Given the description of an element on the screen output the (x, y) to click on. 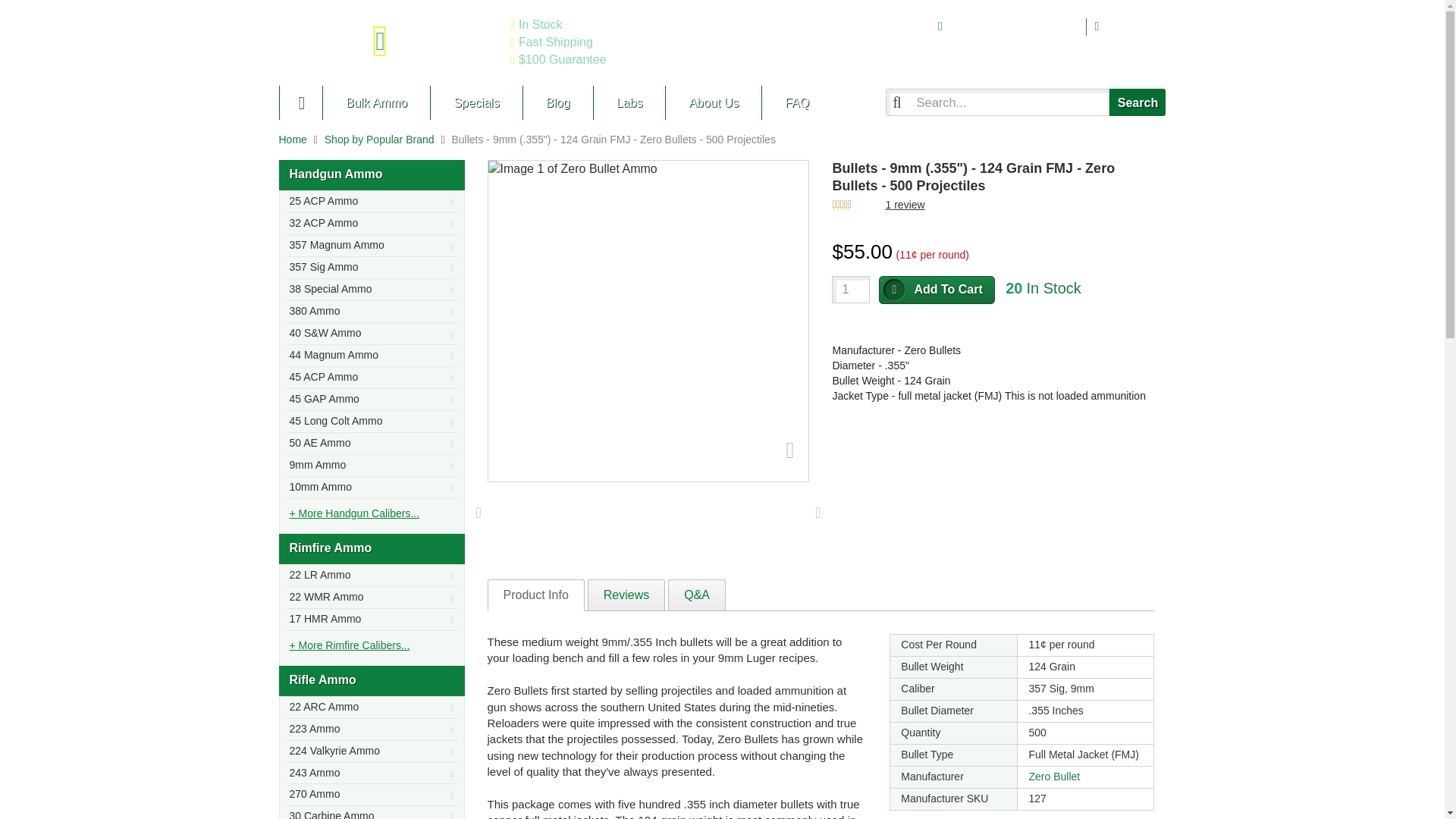
LuckyGunner's Ammunition Laboratory (628, 102)
Search (1137, 102)
Read reviews about this Shop by Popular Brand (904, 204)
1 (850, 289)
Lucky Gunner (301, 102)
Email Us (1133, 25)
Home (293, 139)
FAQ (796, 102)
Shop by Popular Brand (378, 139)
The Lucky Gunner Lounge (557, 102)
